Given the description of an element on the screen output the (x, y) to click on. 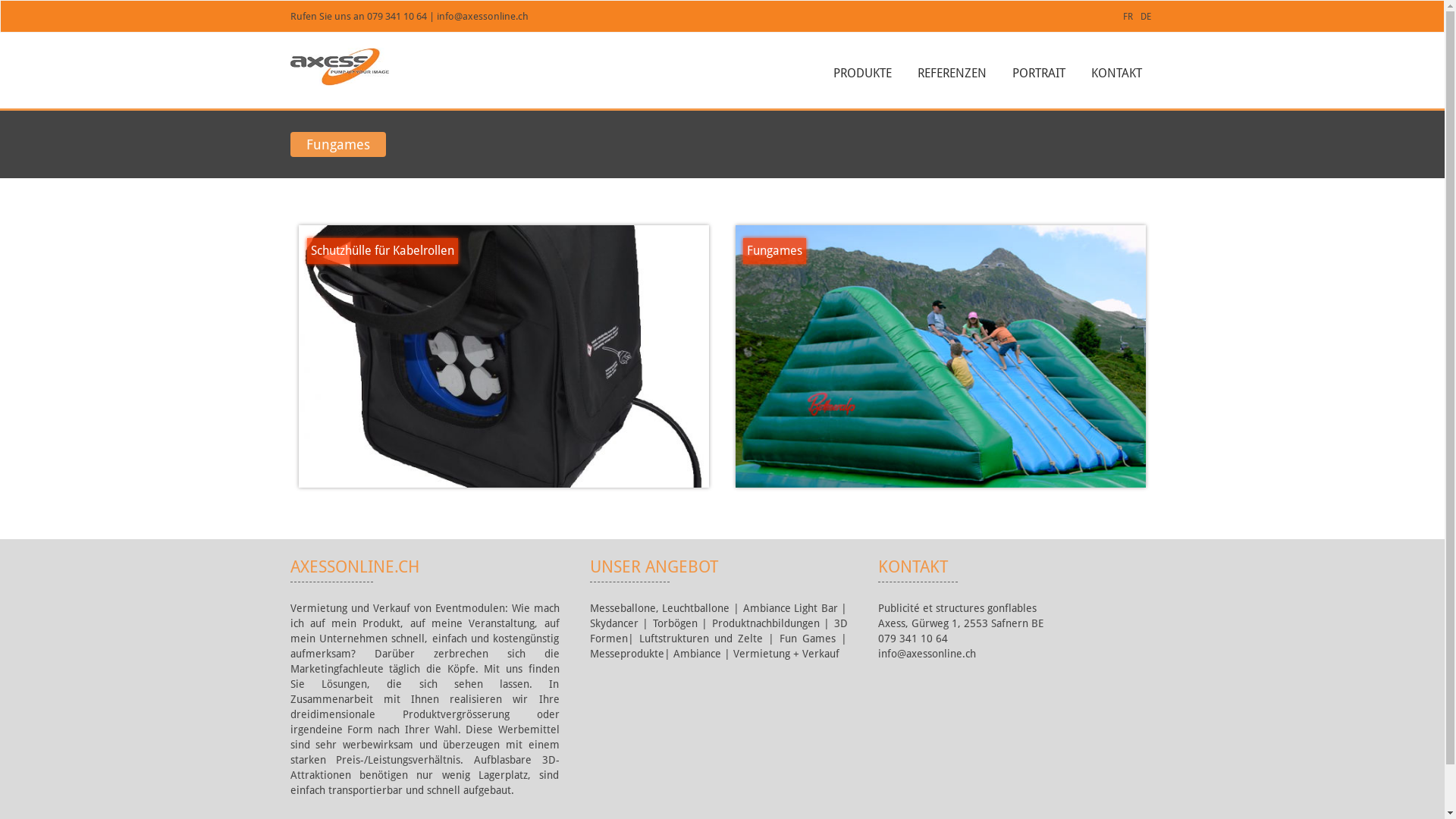
KONTAKT Element type: text (1115, 73)
PRODUKTE Element type: text (861, 73)
DE Element type: text (1145, 16)
FR Element type: text (1127, 16)
REFERENZEN Element type: text (951, 73)
info@axessonline.ch Element type: text (926, 653)
info@axessonline.ch Element type: text (482, 15)
PORTRAIT Element type: text (1038, 73)
